Given the description of an element on the screen output the (x, y) to click on. 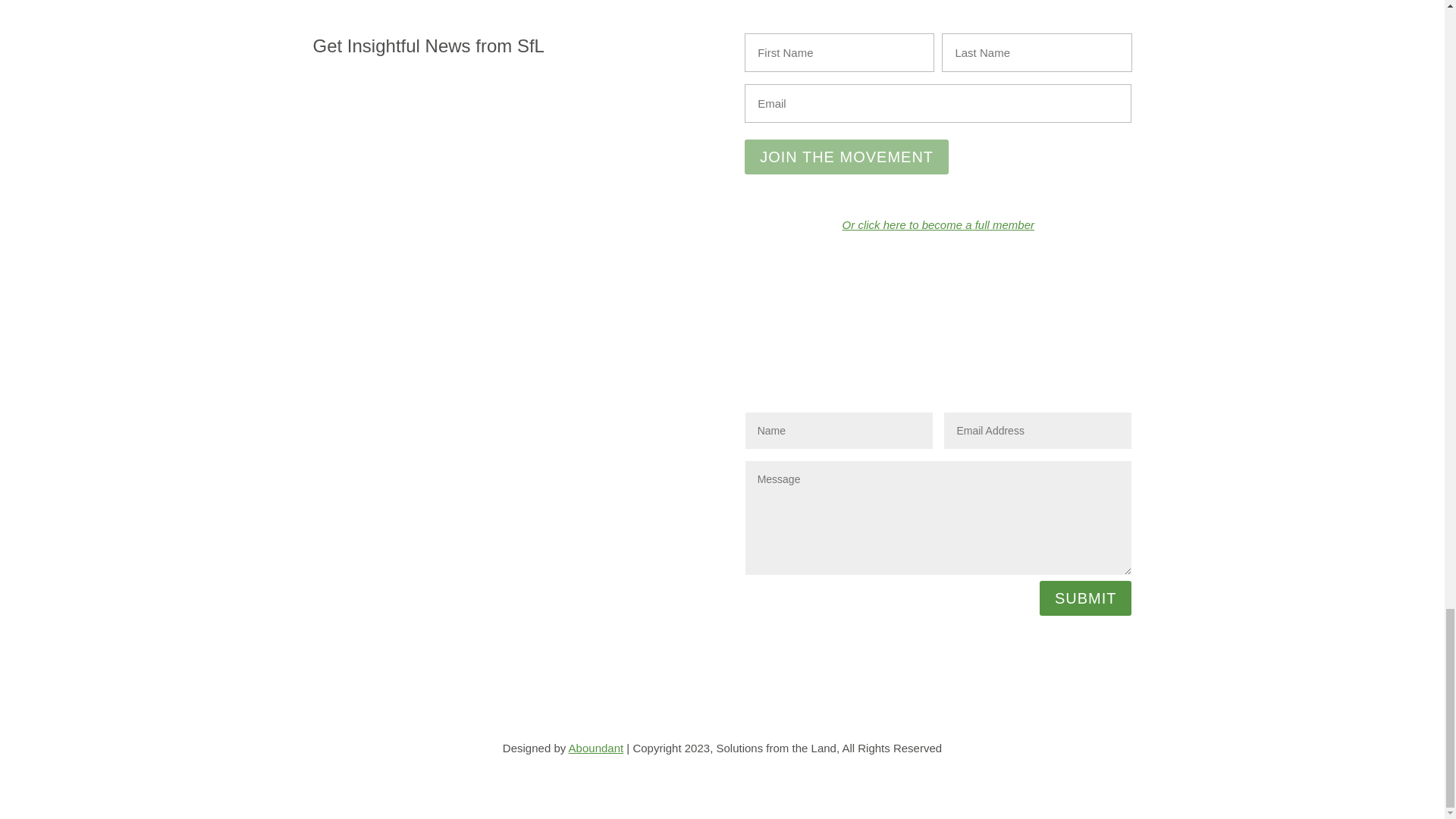
Follow on X (571, 420)
Follow on Facebook (540, 420)
Join The Movement (846, 156)
